Given the description of an element on the screen output the (x, y) to click on. 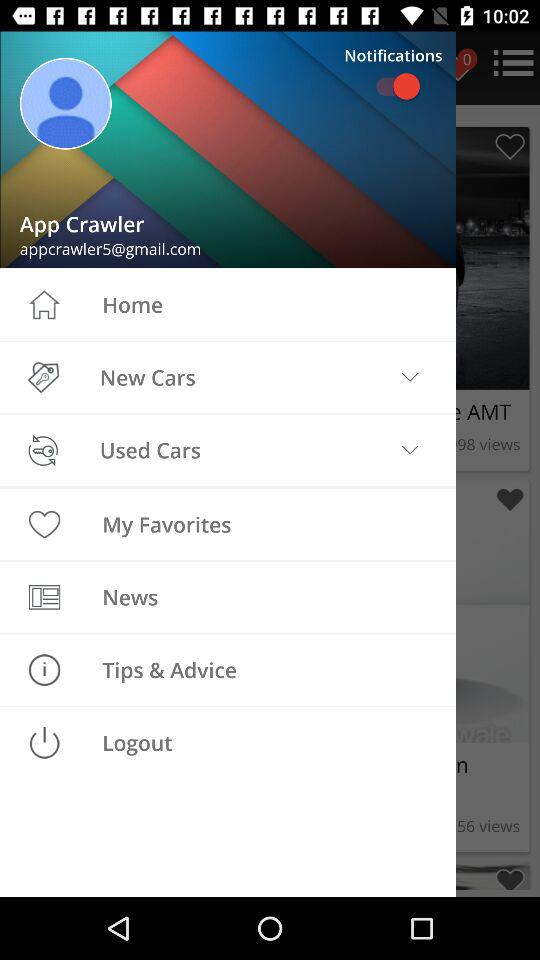
click on the icon beside used cars (42, 449)
